Given the description of an element on the screen output the (x, y) to click on. 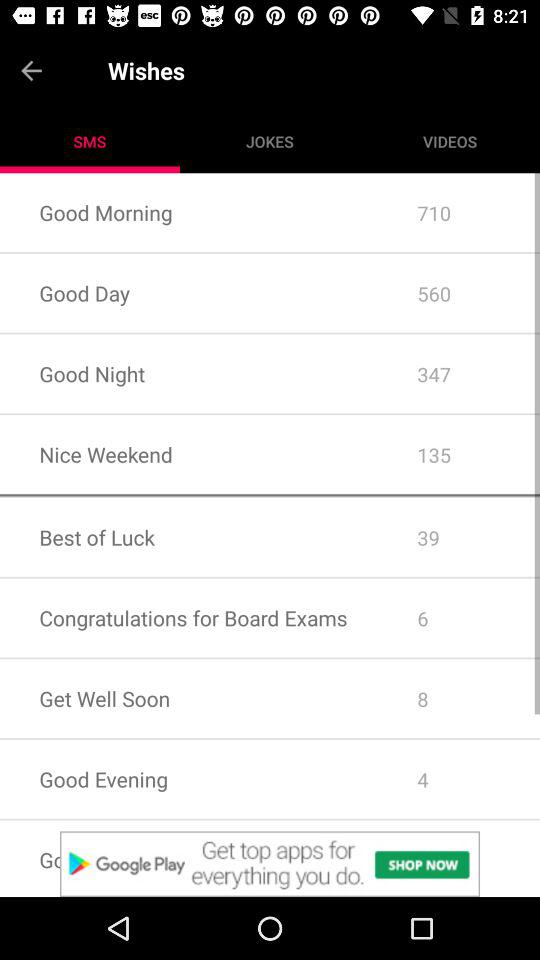
scroll until good week app (188, 858)
